Given the description of an element on the screen output the (x, y) to click on. 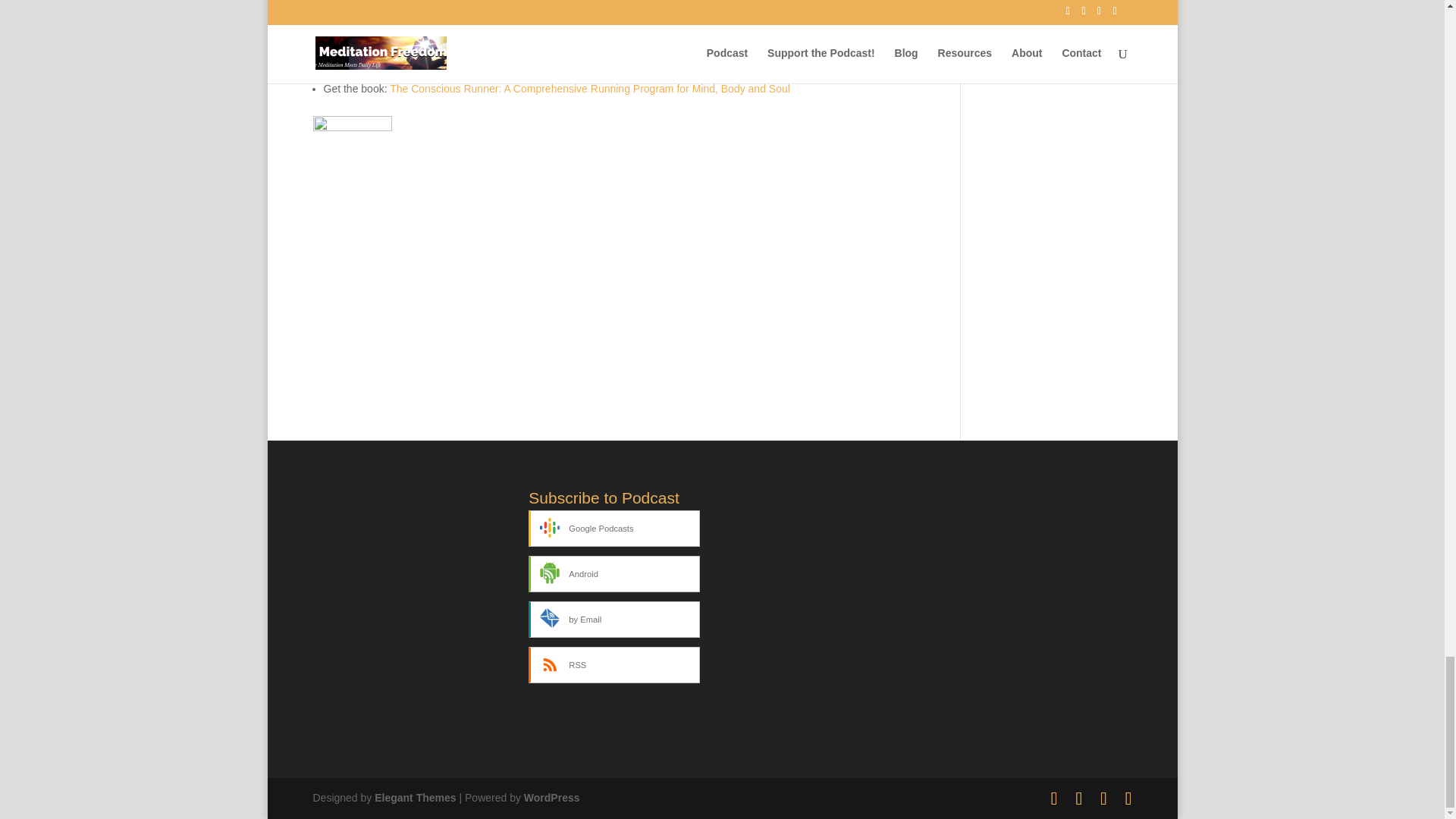
Subscribe on Android (613, 574)
Subscribe on Google Podcasts (613, 528)
Subscribe via RSS (613, 665)
Subscribe by Email (613, 619)
Premium WordPress Themes (414, 797)
The Conscious Runner.com (437, 69)
